Given the description of an element on the screen output the (x, y) to click on. 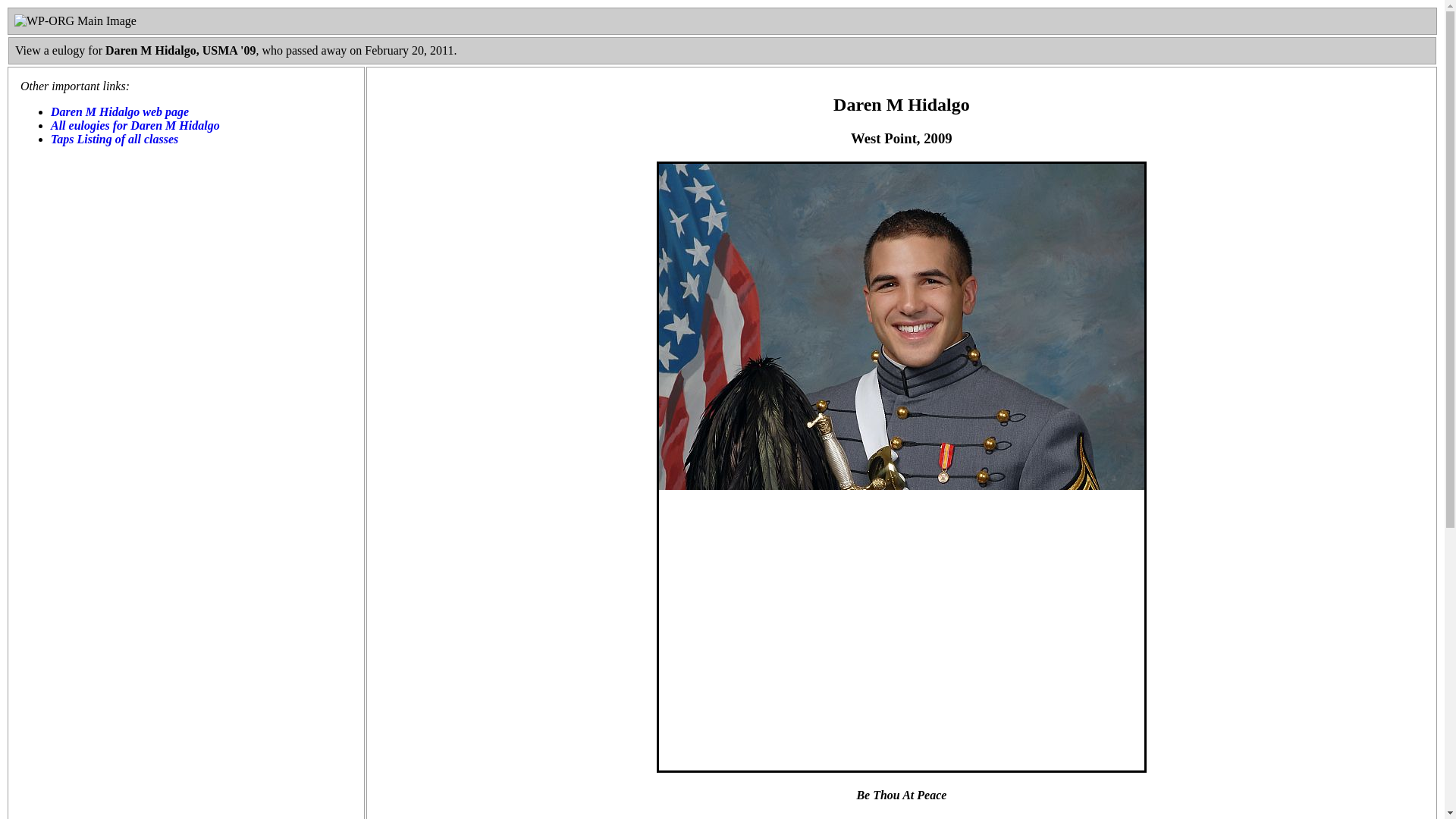
Taps Listing of all classes (113, 138)
Daren M Hidalgo web page (119, 111)
All eulogies for Daren M Hidalgo (134, 124)
